Given the description of an element on the screen output the (x, y) to click on. 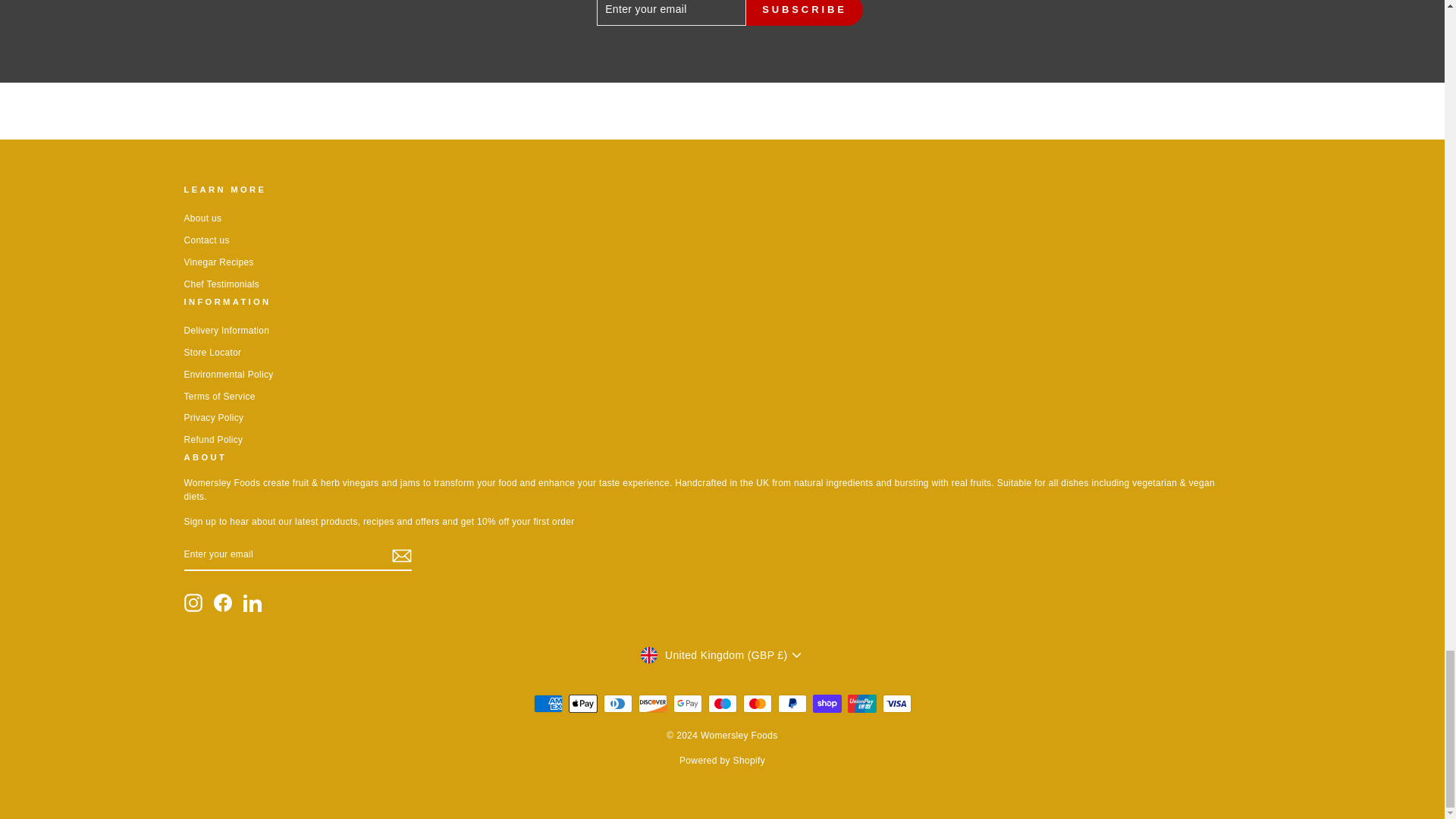
Womersley Foods on Facebook (222, 602)
icon-email (400, 556)
Womersley Foods on LinkedIn (251, 602)
instagram (192, 602)
Womersley Foods on Instagram (192, 602)
